Given the description of an element on the screen output the (x, y) to click on. 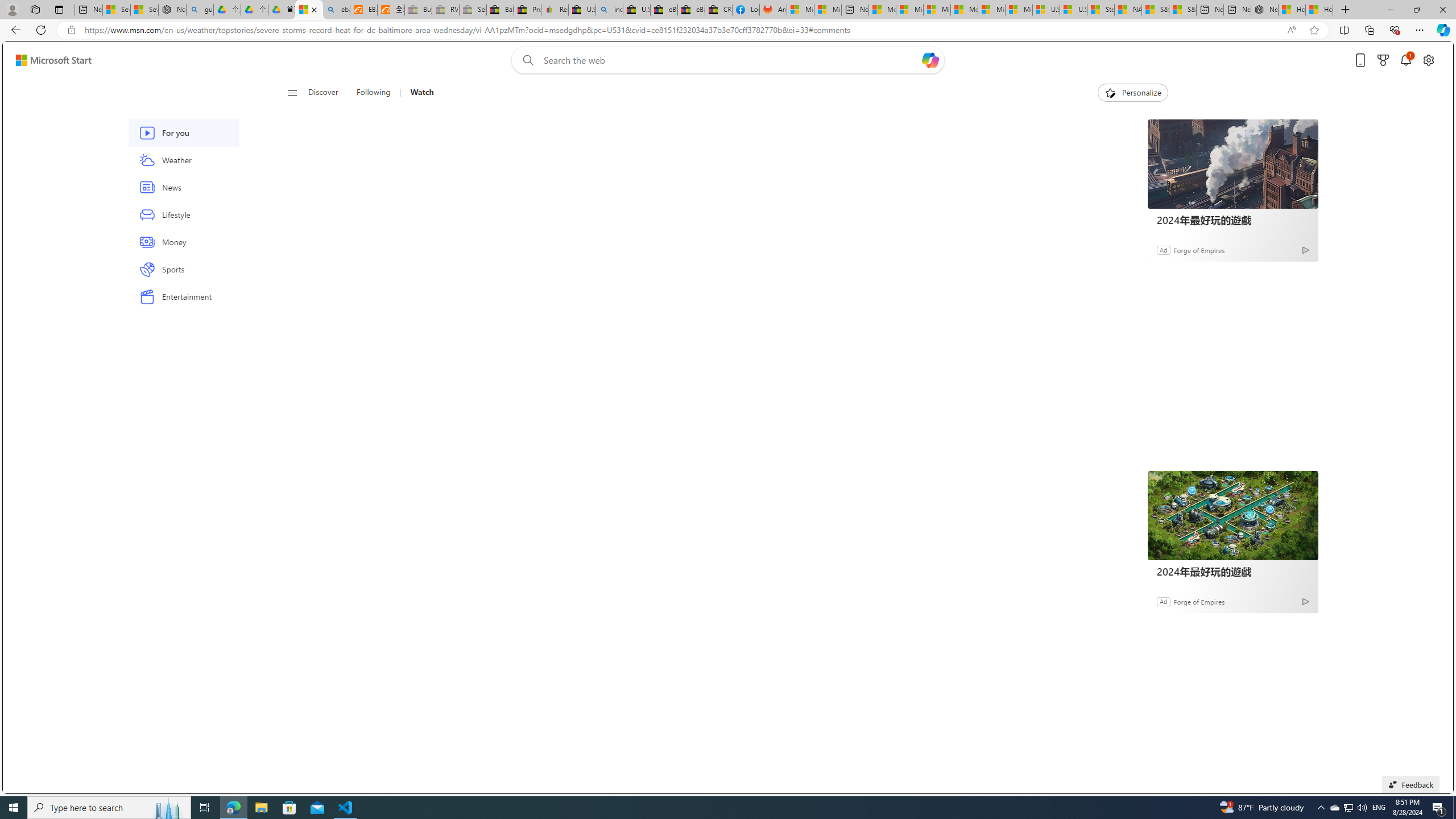
Register: Create a personal eBay account (554, 9)
Open navigation menu (292, 92)
Baby Keepsakes & Announcements for sale | eBay (499, 9)
